Given the description of an element on the screen output the (x, y) to click on. 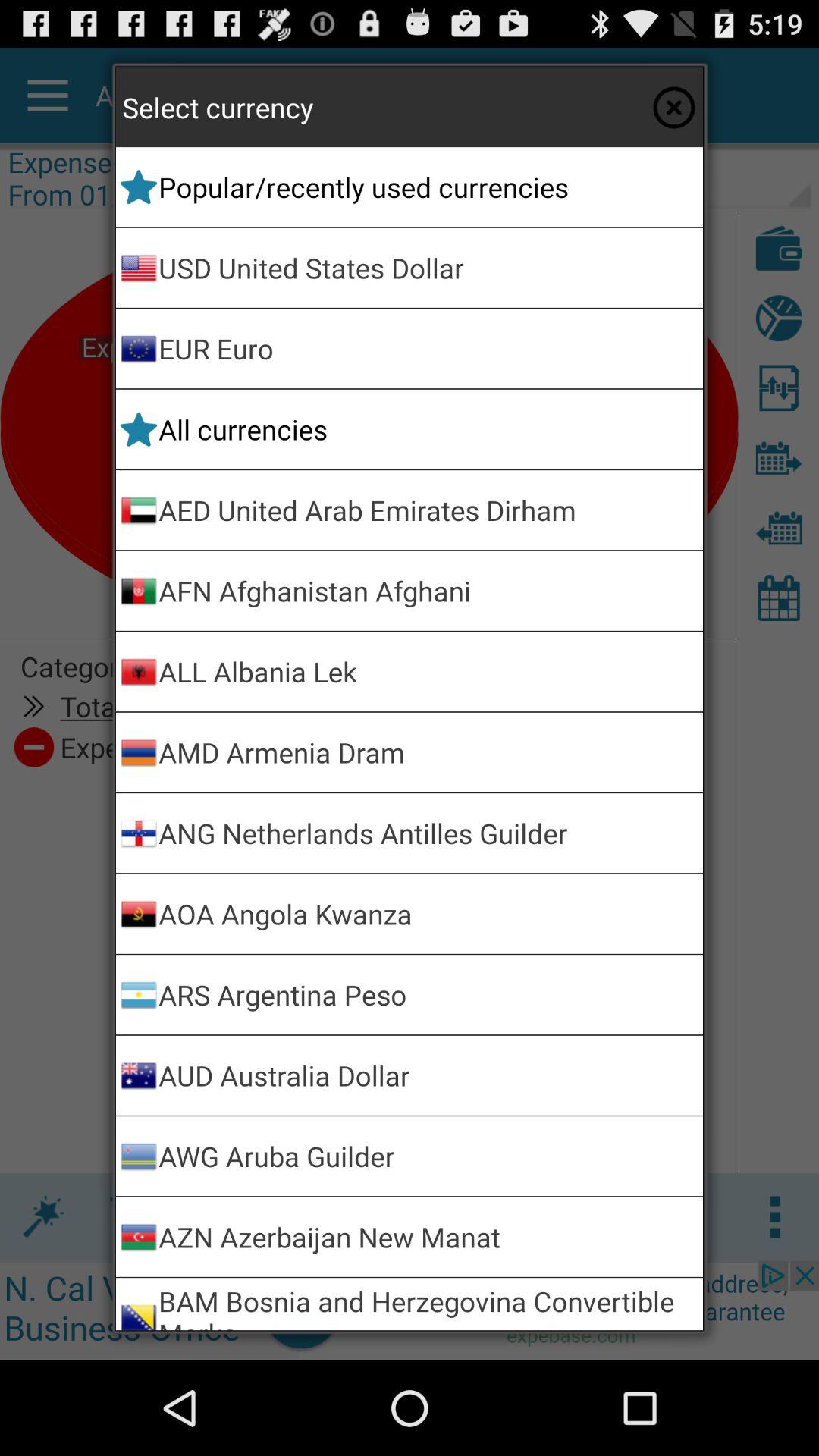
swipe to popular recently used item (427, 186)
